Given the description of an element on the screen output the (x, y) to click on. 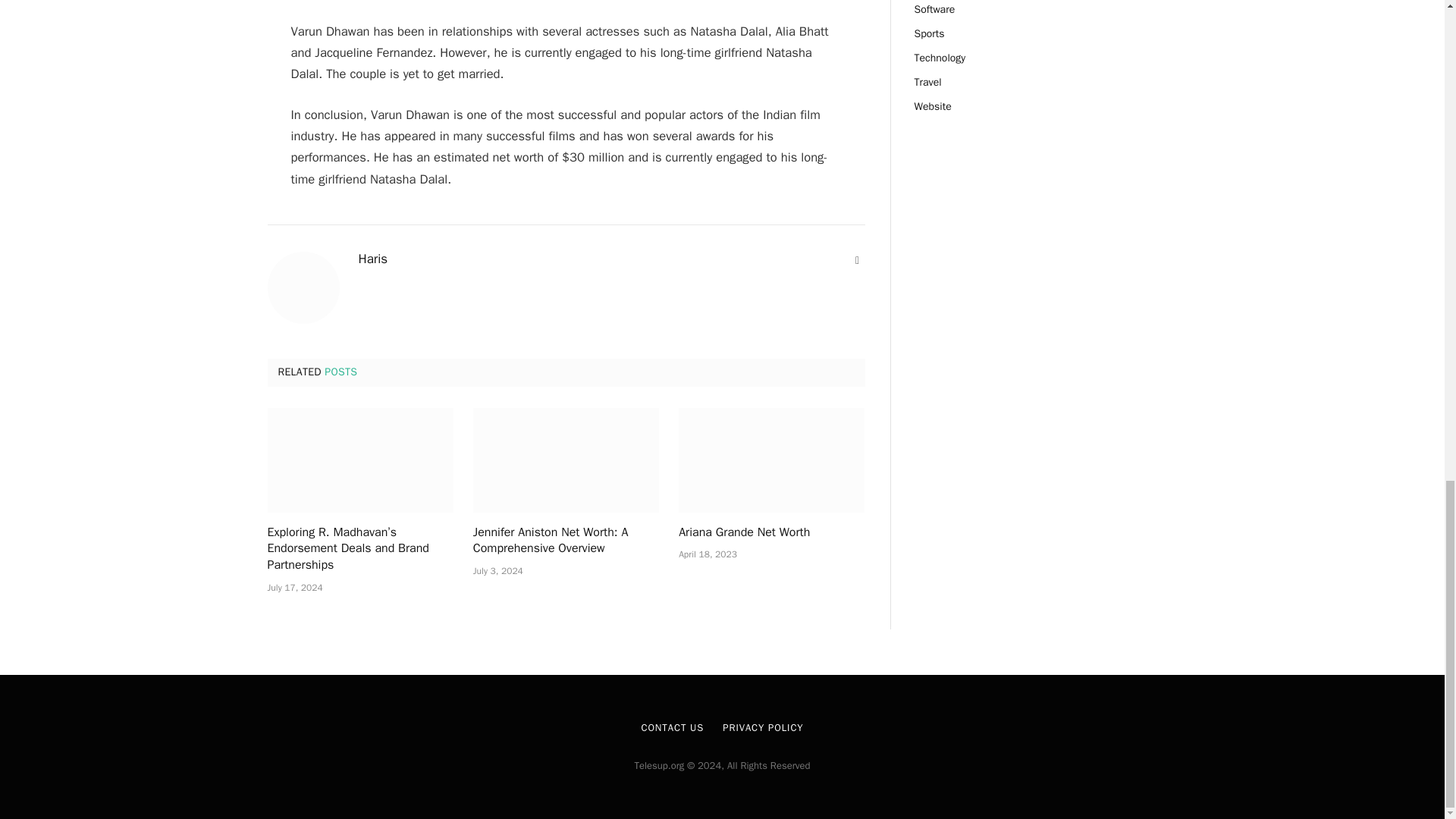
Jennifer Aniston Net Worth: A Comprehensive Overview (566, 540)
Posts by Haris (372, 258)
Ariana Grande Net Worth (771, 459)
Website (856, 260)
Jennifer Aniston Net Worth: A Comprehensive Overview (566, 459)
Haris (372, 258)
Ariana Grande Net Worth (771, 532)
Website (856, 260)
